Given the description of an element on the screen output the (x, y) to click on. 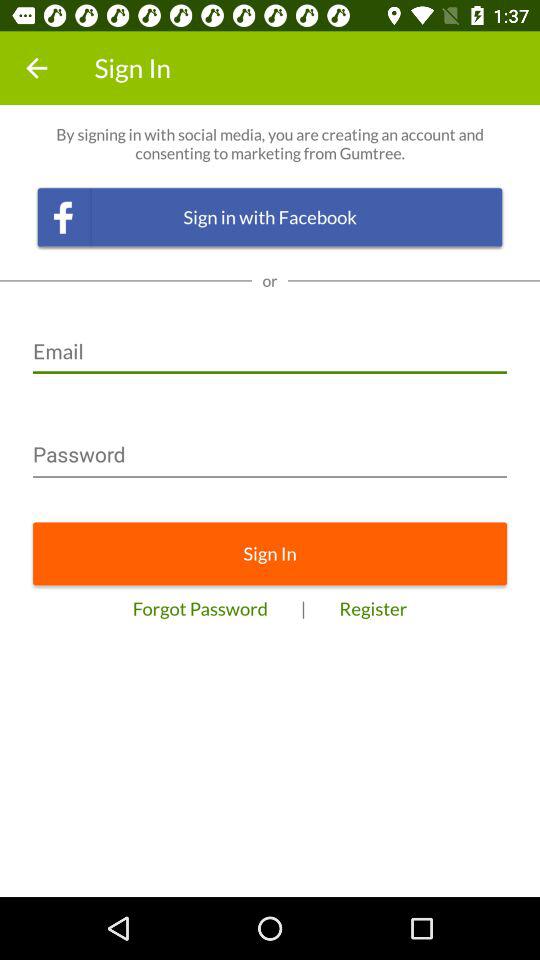
click the item below the sign in item (199, 608)
